Given the description of an element on the screen output the (x, y) to click on. 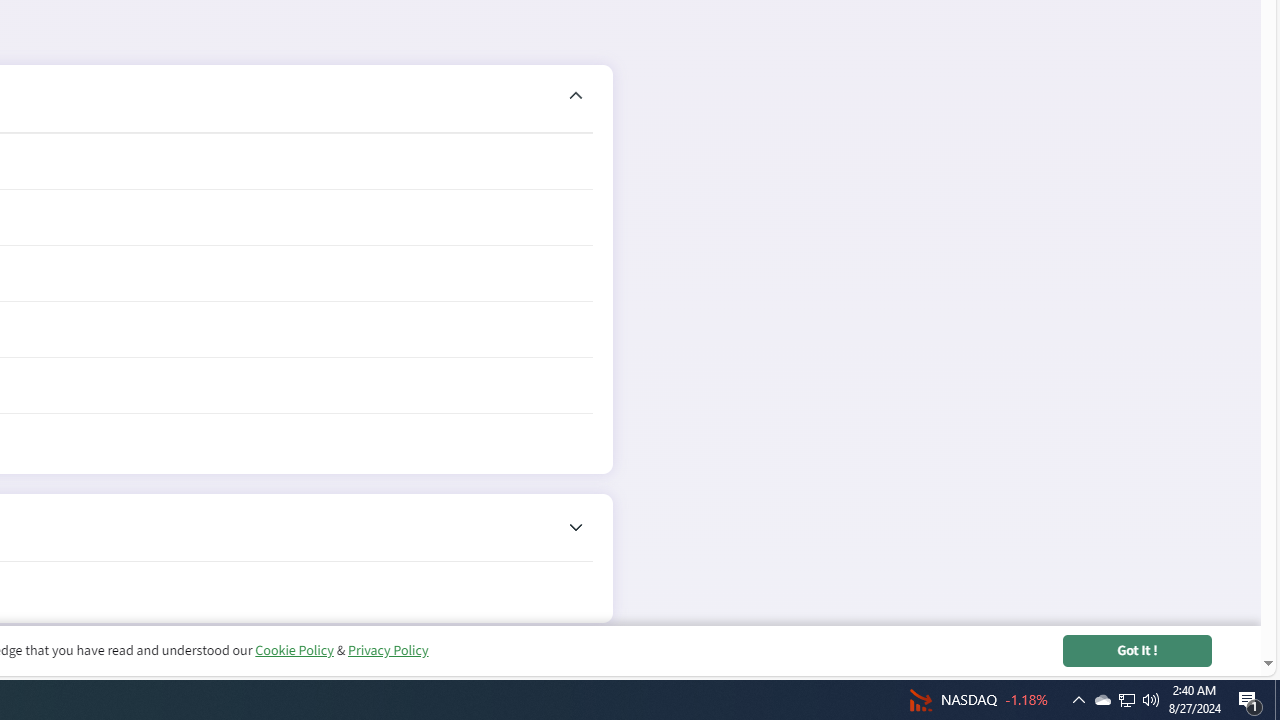
Privacy Policy (387, 650)
Cookie Policy (294, 650)
Got It ! (1137, 650)
